Given the description of an element on the screen output the (x, y) to click on. 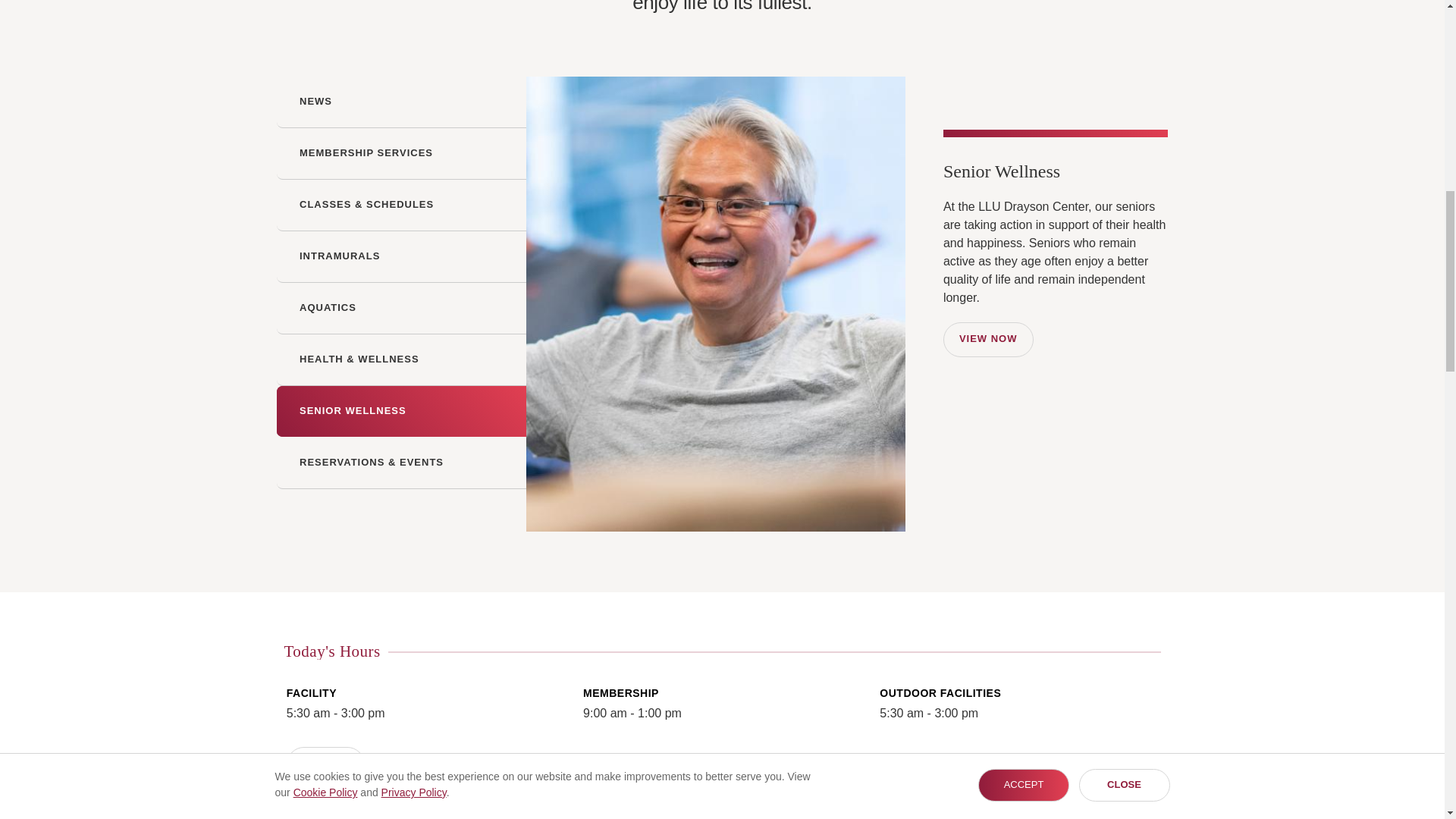
NEWS (315, 101)
MEMBERSHIP SERVICES (400, 153)
NEWS (400, 101)
